Given the description of an element on the screen output the (x, y) to click on. 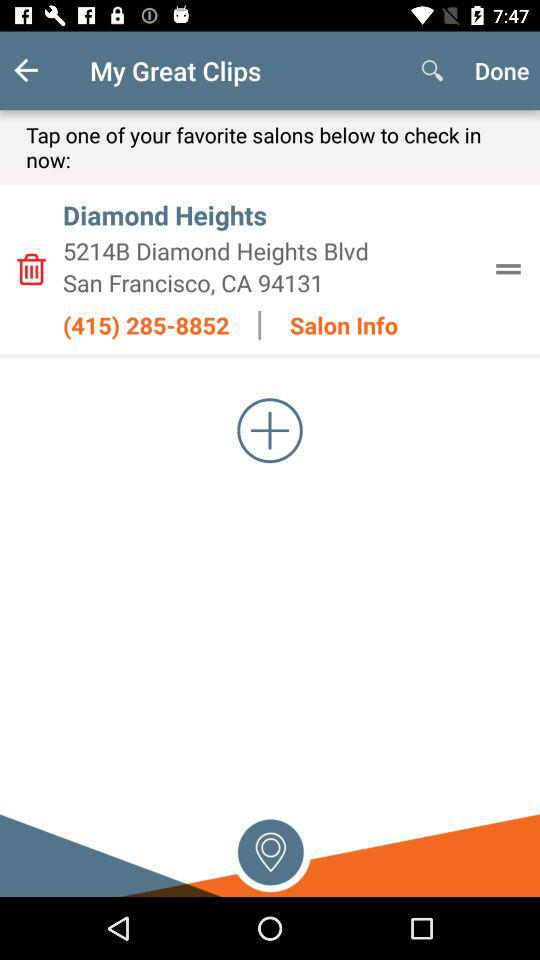
select the item to the left of the my great clips item (42, 70)
